Given the description of an element on the screen output the (x, y) to click on. 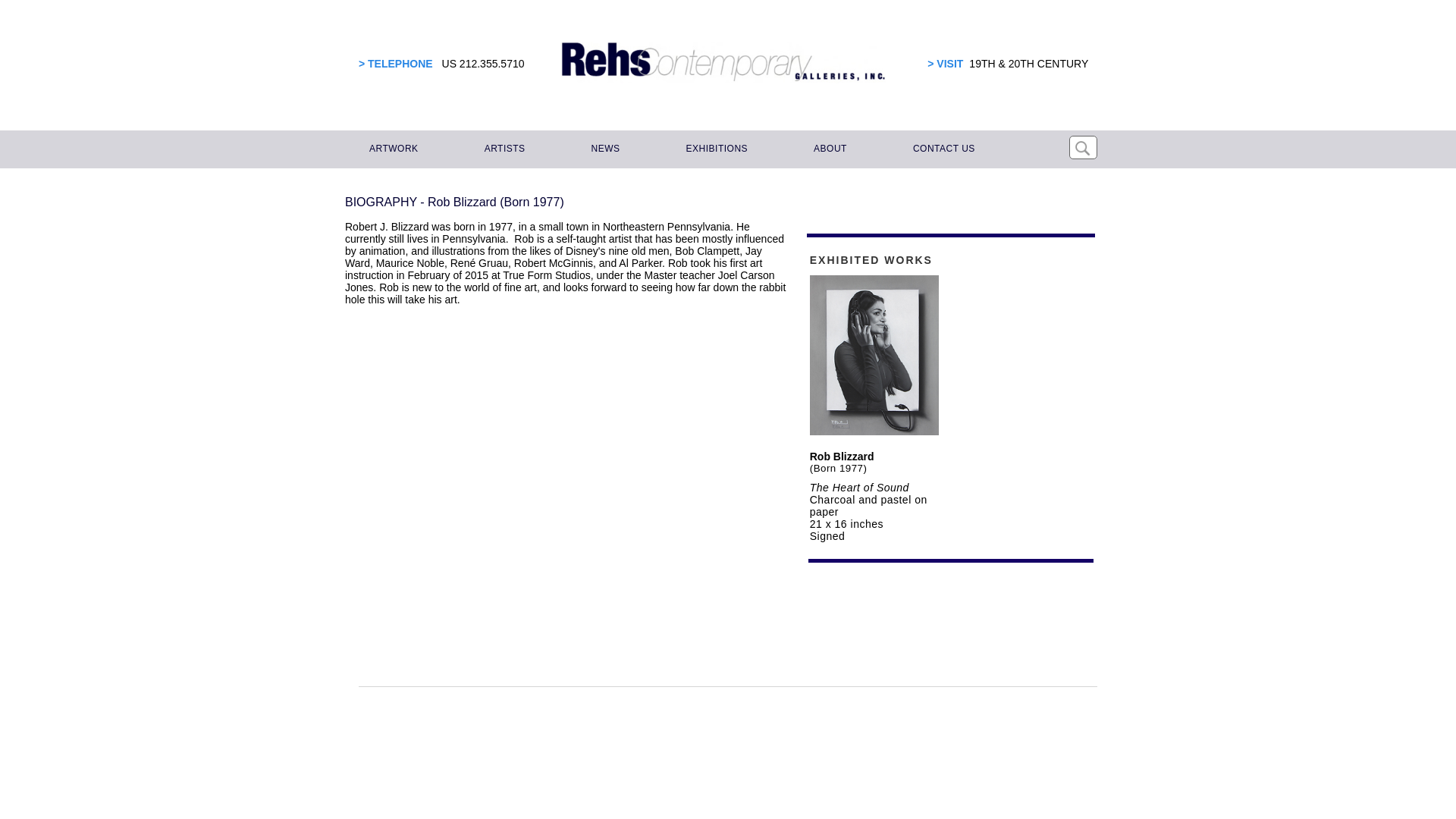
EXHIBITIONS (714, 149)
ABOUT (828, 149)
ARTISTS (502, 149)
Logo (723, 62)
ARTWORK (391, 149)
NEWS (603, 149)
CONTACT US (941, 149)
